Given the description of an element on the screen output the (x, y) to click on. 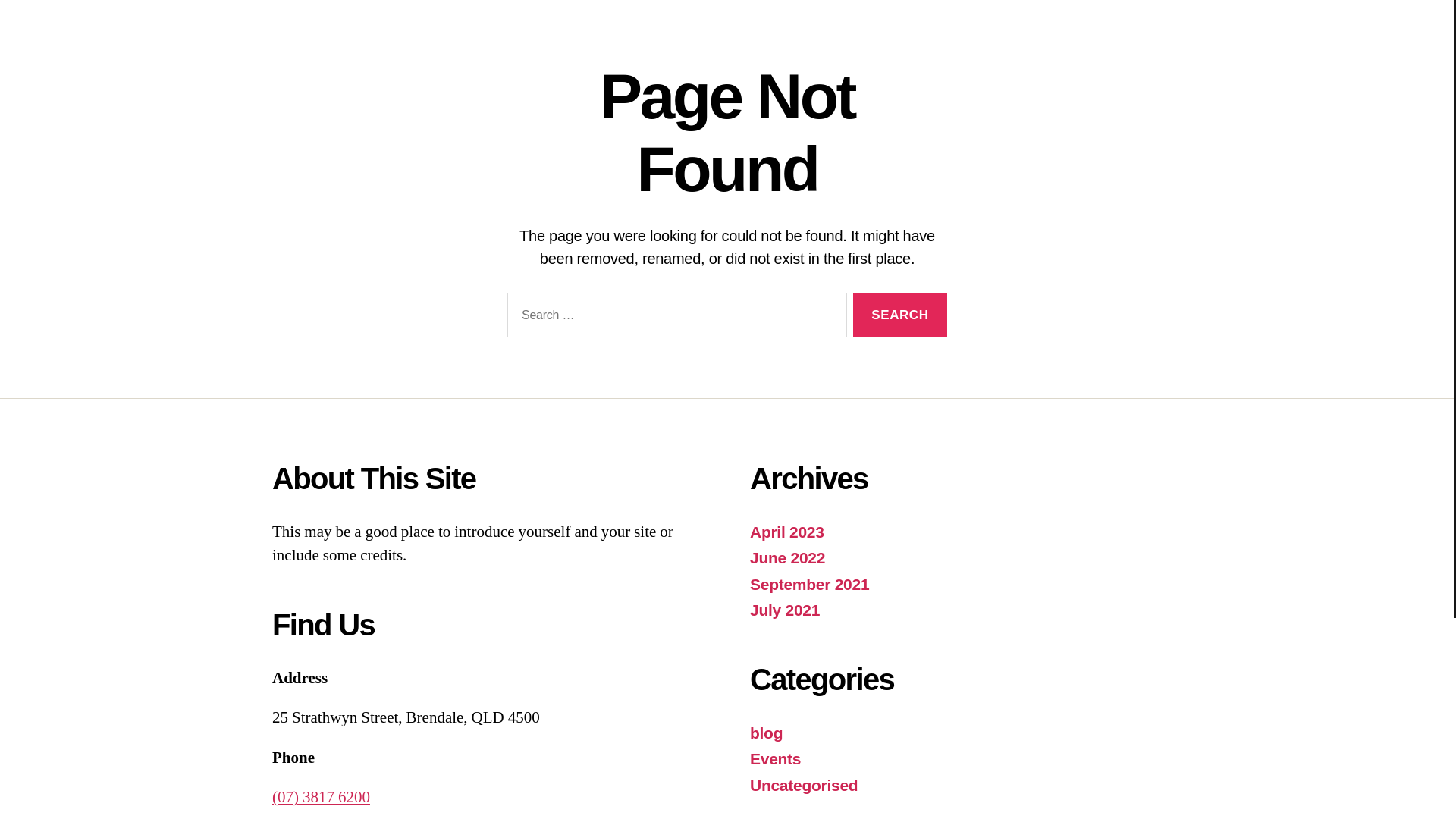
(07) 3817 6200 Element type: text (321, 797)
September 2021 Element type: text (809, 584)
Events Element type: text (774, 758)
Search Element type: text (900, 314)
Uncategorised Element type: text (803, 784)
July 2021 Element type: text (784, 609)
blog Element type: text (765, 732)
June 2022 Element type: text (787, 557)
April 2023 Element type: text (786, 531)
